Given the description of an element on the screen output the (x, y) to click on. 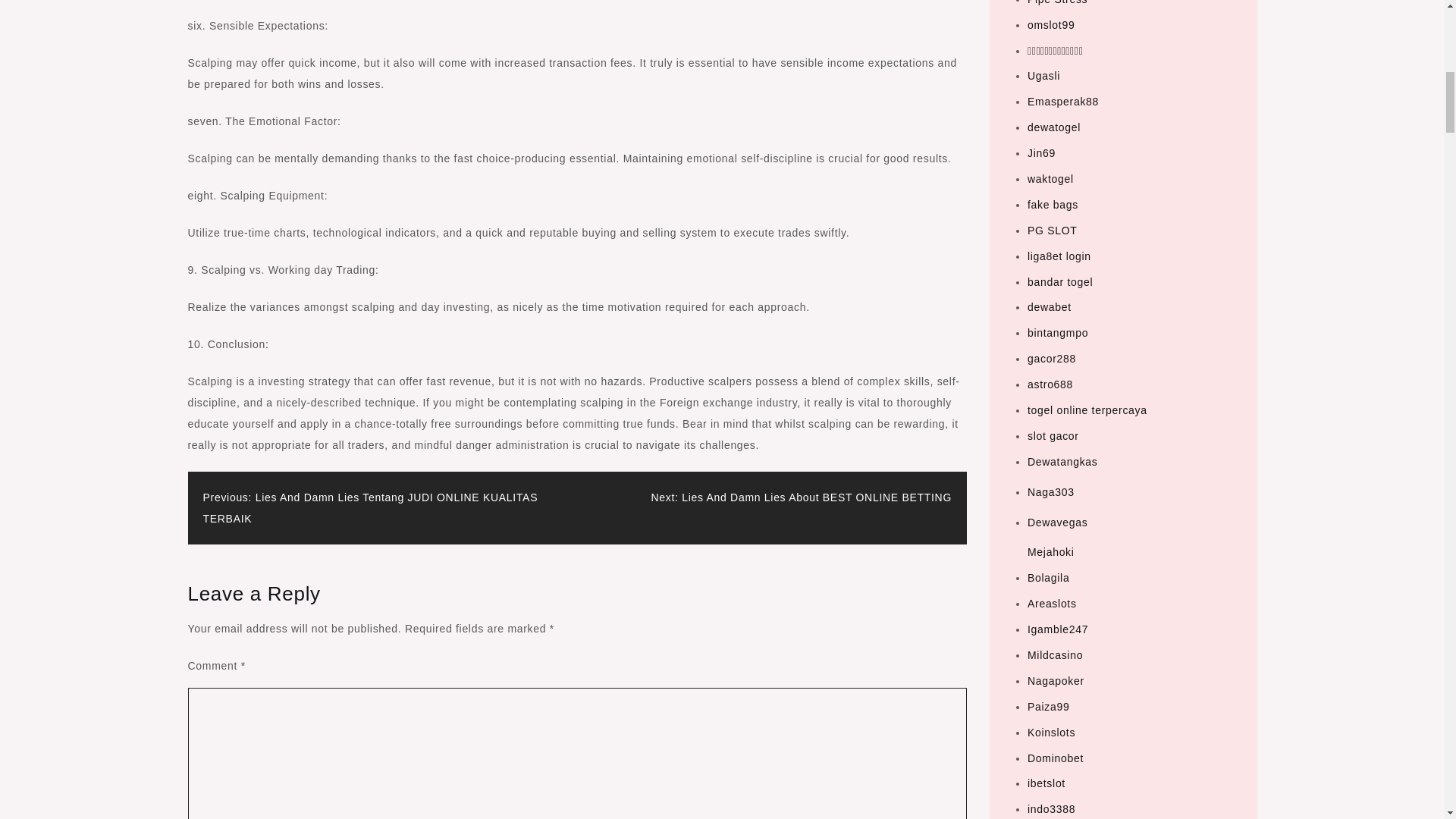
omslot99 (1050, 24)
Next: Lies And Damn Lies About BEST ONLINE BETTING (801, 497)
Pipe Stress (1057, 2)
